Given the description of an element on the screen output the (x, y) to click on. 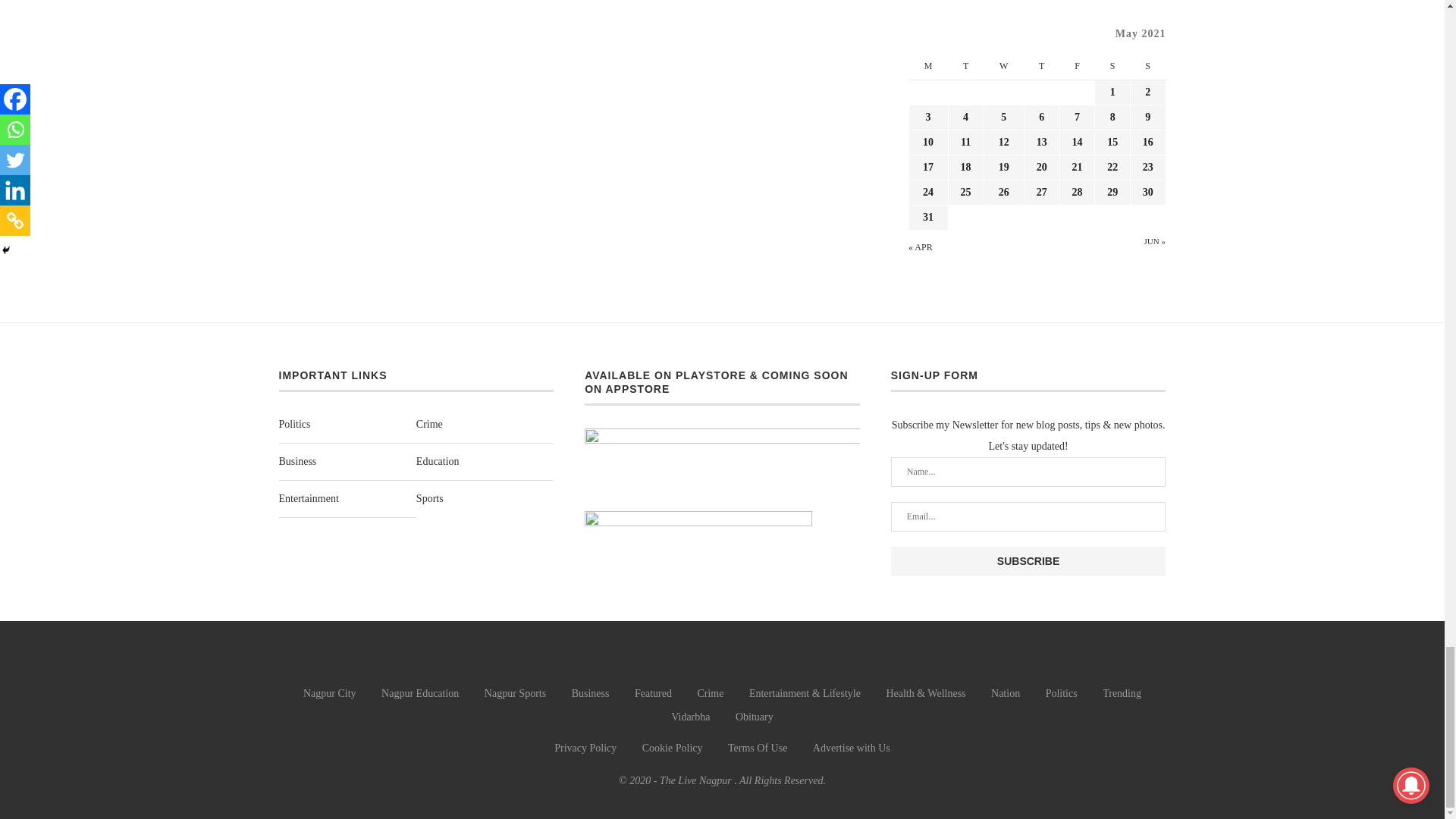
Subscribe (1028, 561)
